Given the description of an element on the screen output the (x, y) to click on. 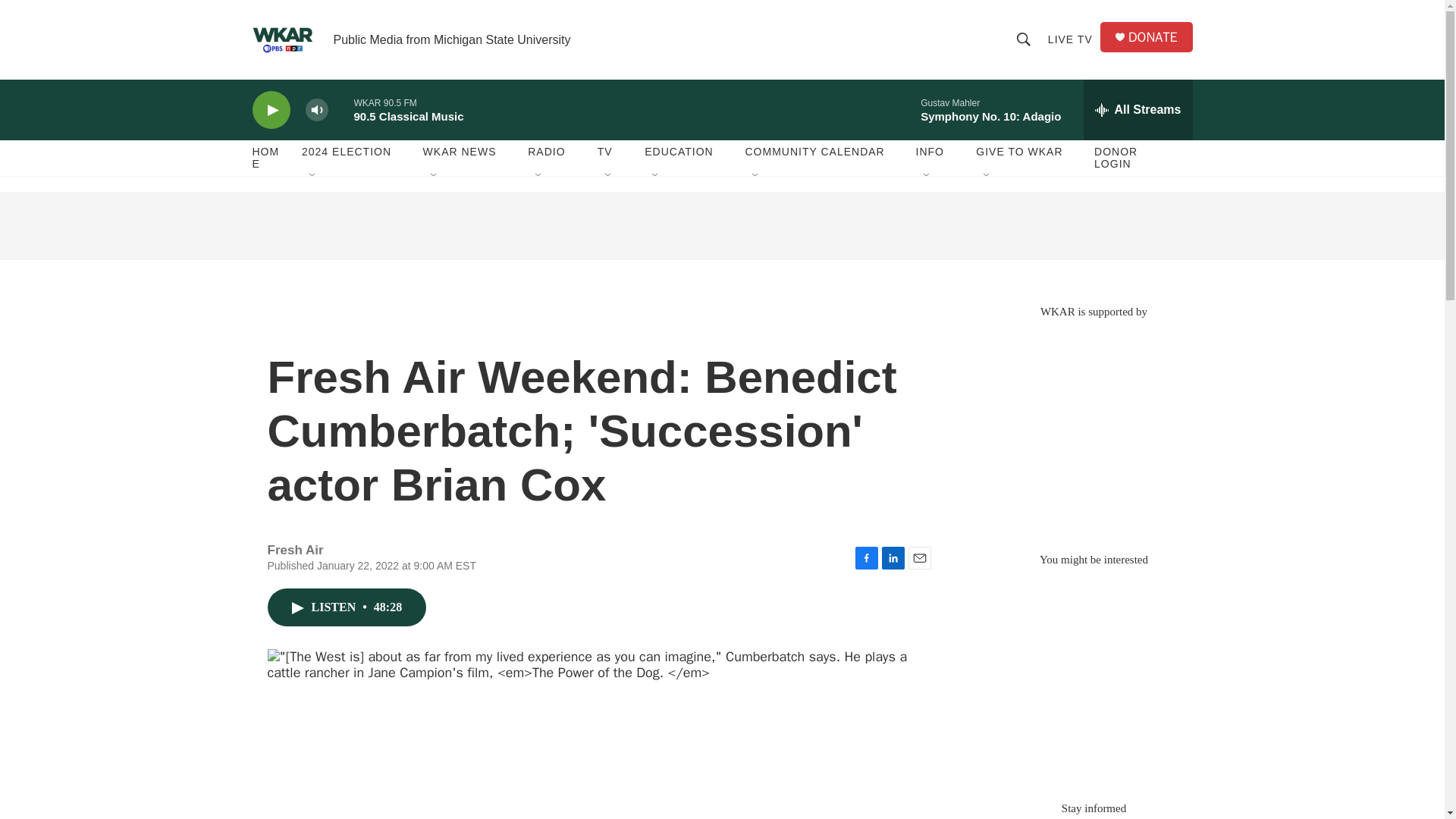
3rd party ad content (1093, 428)
3rd party ad content (1093, 677)
3rd party ad content (721, 225)
